Given the description of an element on the screen output the (x, y) to click on. 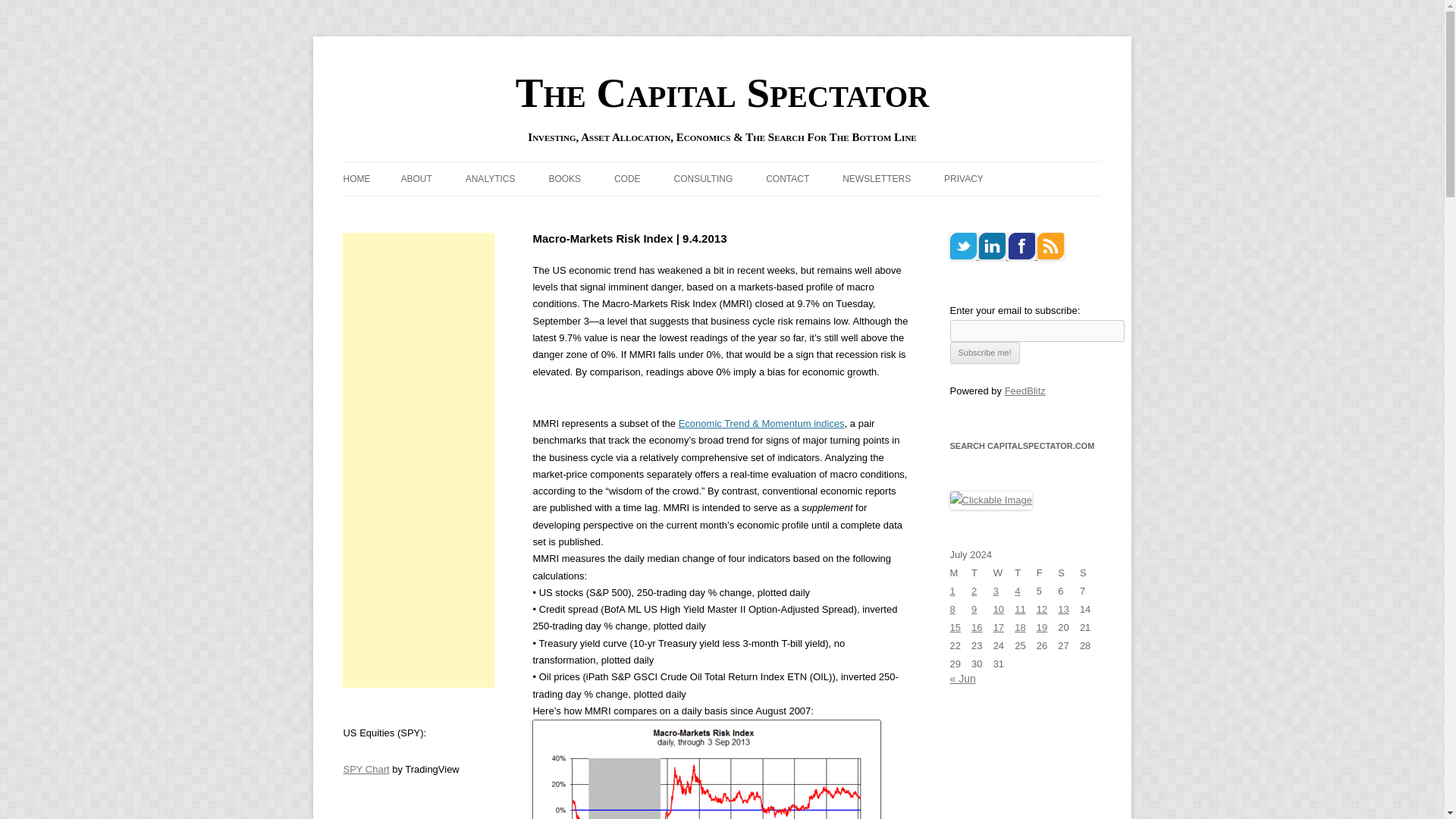
12 (1041, 609)
10 (998, 609)
CONSULTING (702, 178)
11 (1019, 609)
Wednesday (1003, 573)
PRIVACY (963, 178)
ANALYTICS (490, 178)
BOOKS (564, 178)
ABOUT (415, 178)
Skip to content (757, 166)
Subscribe me! (984, 353)
Tuesday (981, 573)
The Capital Spectator (722, 92)
RSS (1050, 245)
Friday (1047, 573)
